Given the description of an element on the screen output the (x, y) to click on. 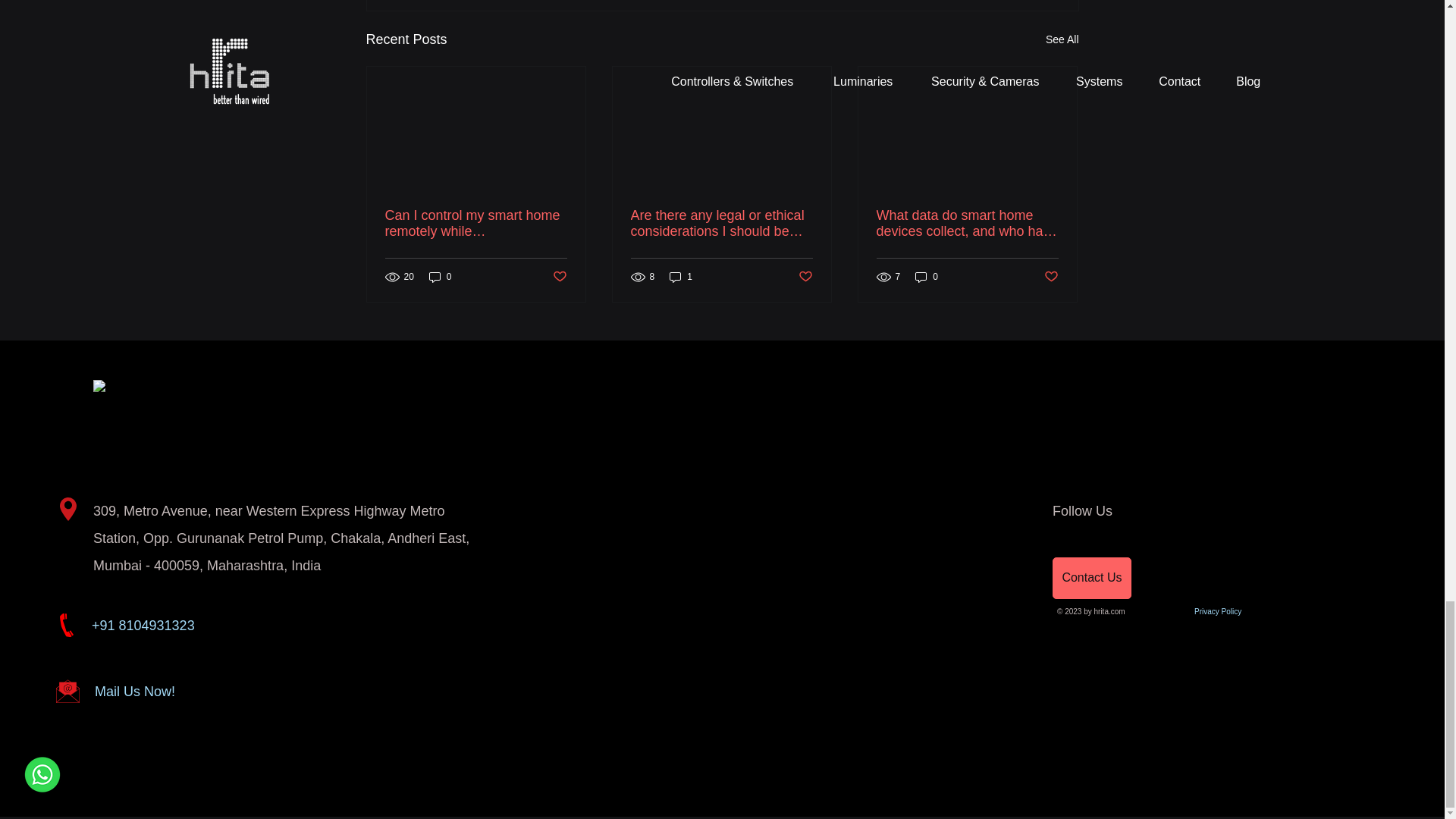
1 (681, 276)
Mail Us Now! (134, 691)
Post not marked as liked (804, 277)
Post not marked as liked (1050, 277)
0 (926, 276)
Contact Us (1091, 577)
0 (440, 276)
Post not marked as liked (558, 277)
See All (1061, 39)
